Given the description of an element on the screen output the (x, y) to click on. 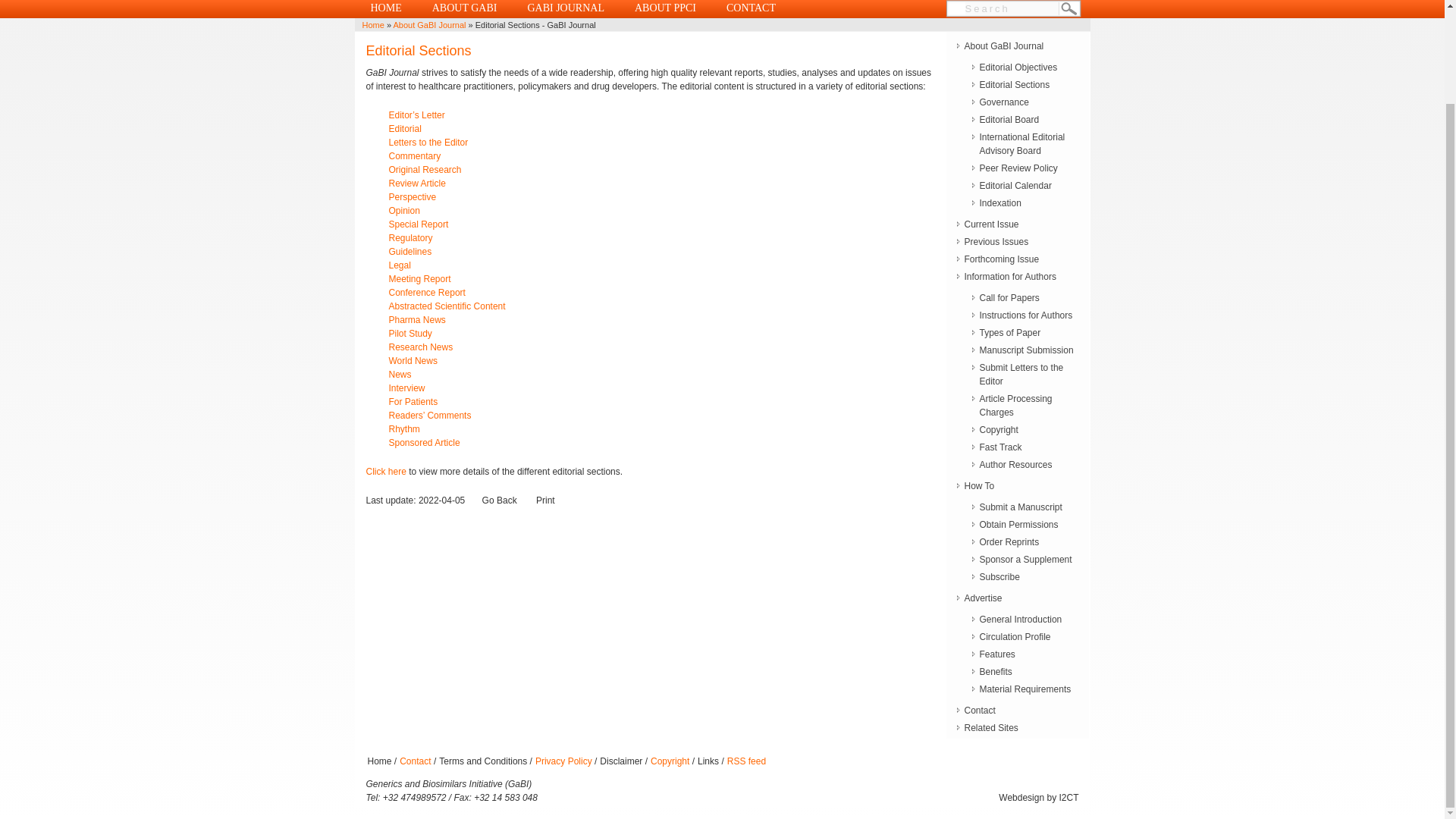
Perspective (411, 196)
Perspective (411, 196)
Editorial (416, 135)
Review Article (416, 183)
Special Report (418, 224)
Home (373, 24)
Guidelines (409, 251)
Opinion (403, 210)
For Patients (413, 401)
About GaBI Journal (429, 24)
Letters to the Editor (427, 142)
Original Research (424, 169)
Pharma News (409, 333)
Commentary (414, 155)
Guidelines (409, 251)
